Given the description of an element on the screen output the (x, y) to click on. 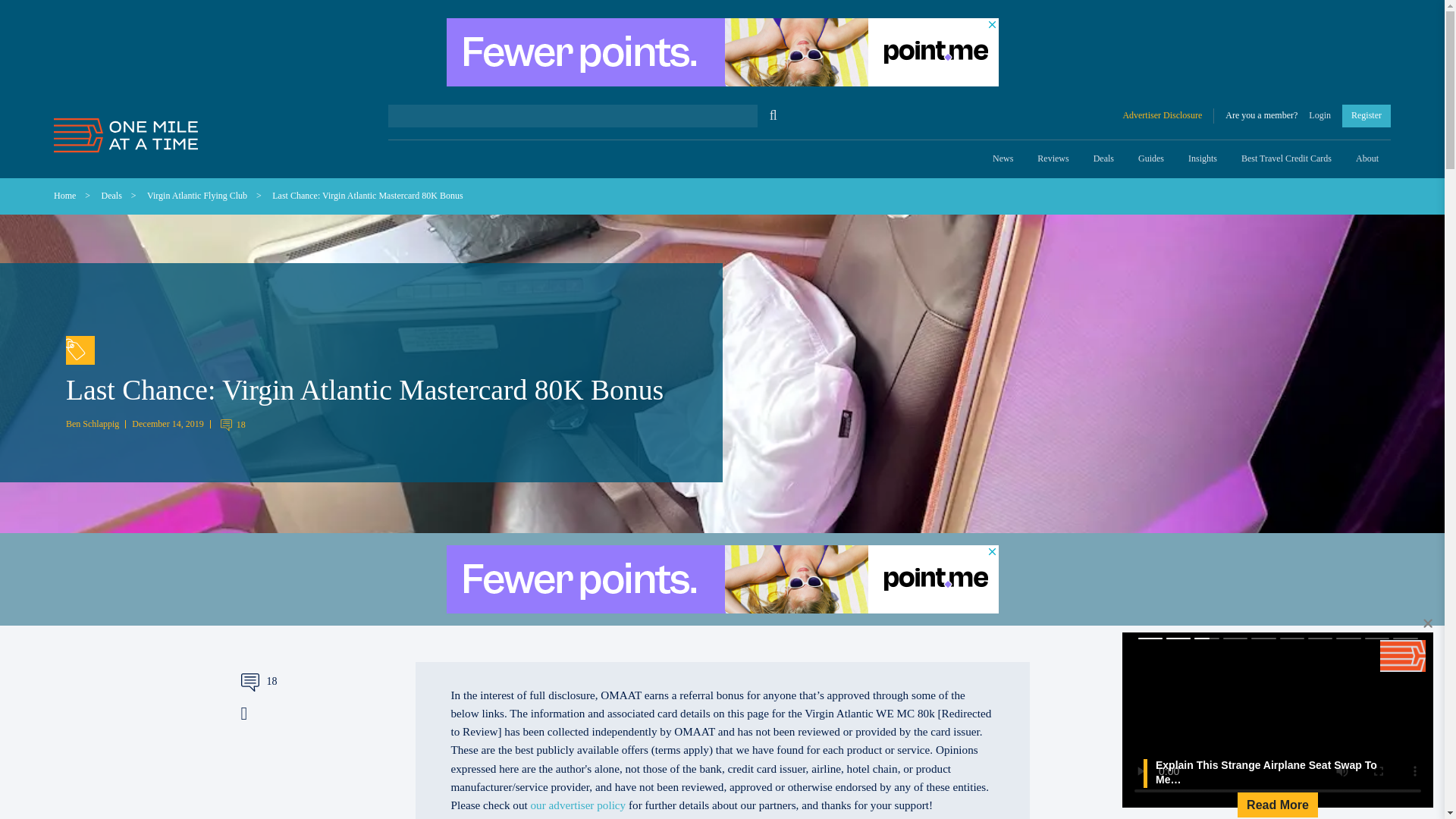
Deals (1103, 159)
3rd party ad content (289, 779)
3rd party ad content (721, 52)
Home (64, 195)
Guides (1150, 159)
Deals (1103, 159)
Deals (111, 195)
Best Travel Credit Cards (1285, 159)
Reviews (1052, 159)
Last Chance: Virgin Atlantic Mastercard 80K Bonus (367, 195)
Virgin Atlantic Flying Club (197, 195)
About (1366, 159)
Insights (1202, 159)
Best Travel Credit Cards (1285, 159)
our advertiser policy (578, 804)
